Given the description of an element on the screen output the (x, y) to click on. 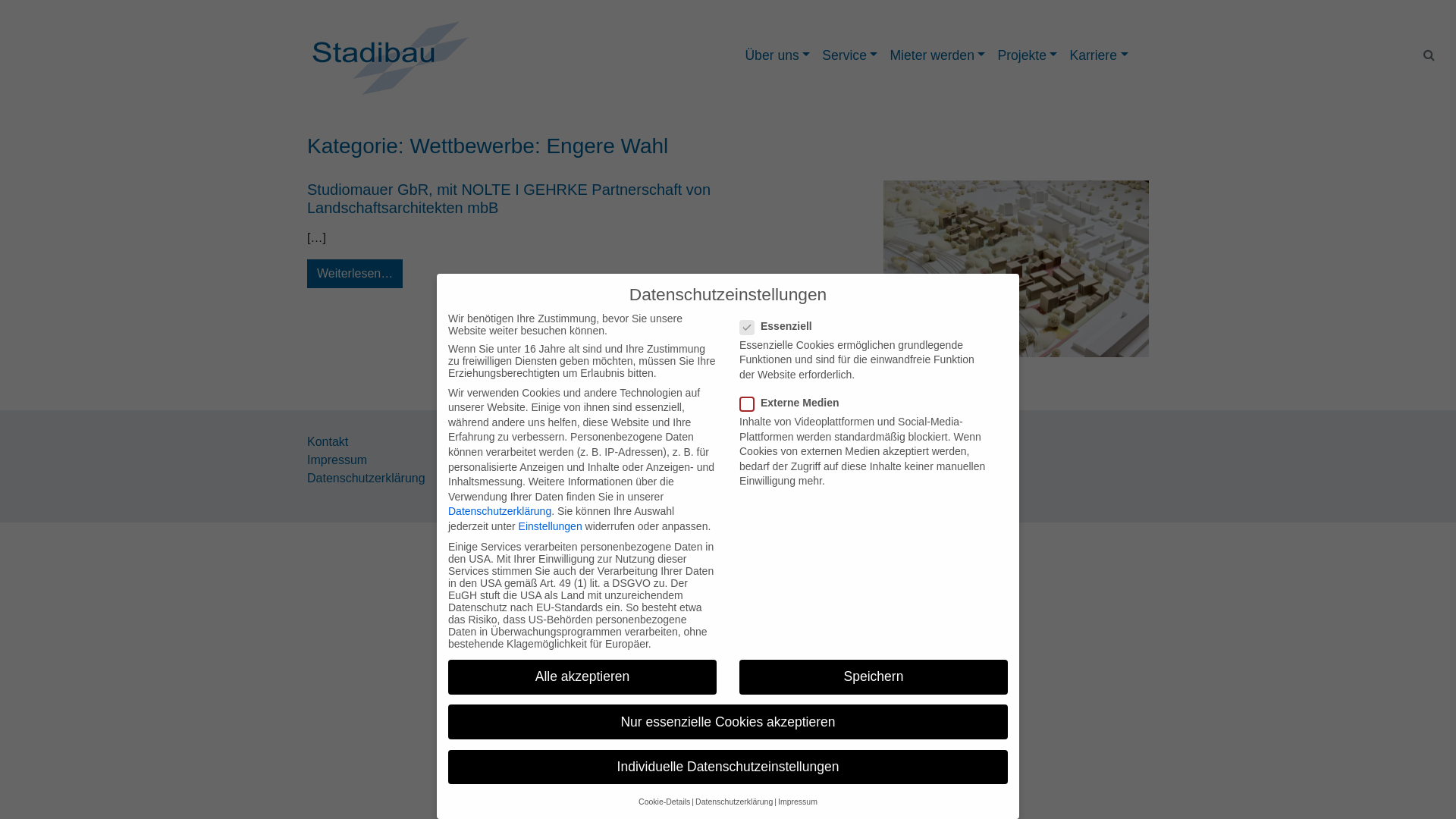
Nur essenzielle Cookies akzeptieren Element type: text (727, 721)
Projekte Element type: text (1027, 55)
Impressum Element type: text (337, 459)
Impressum Element type: text (797, 801)
Speichern Element type: text (873, 676)
Einstellungen Element type: text (550, 526)
Cookie-Details Element type: text (664, 801)
Karriere Element type: text (1098, 55)
Mieter werden Element type: text (937, 55)
Service Element type: text (849, 55)
Individuelle Datenschutzeinstellungen Element type: text (727, 766)
Kontakt Element type: text (327, 441)
Alle akzeptieren Element type: text (582, 676)
